Given the description of an element on the screen output the (x, y) to click on. 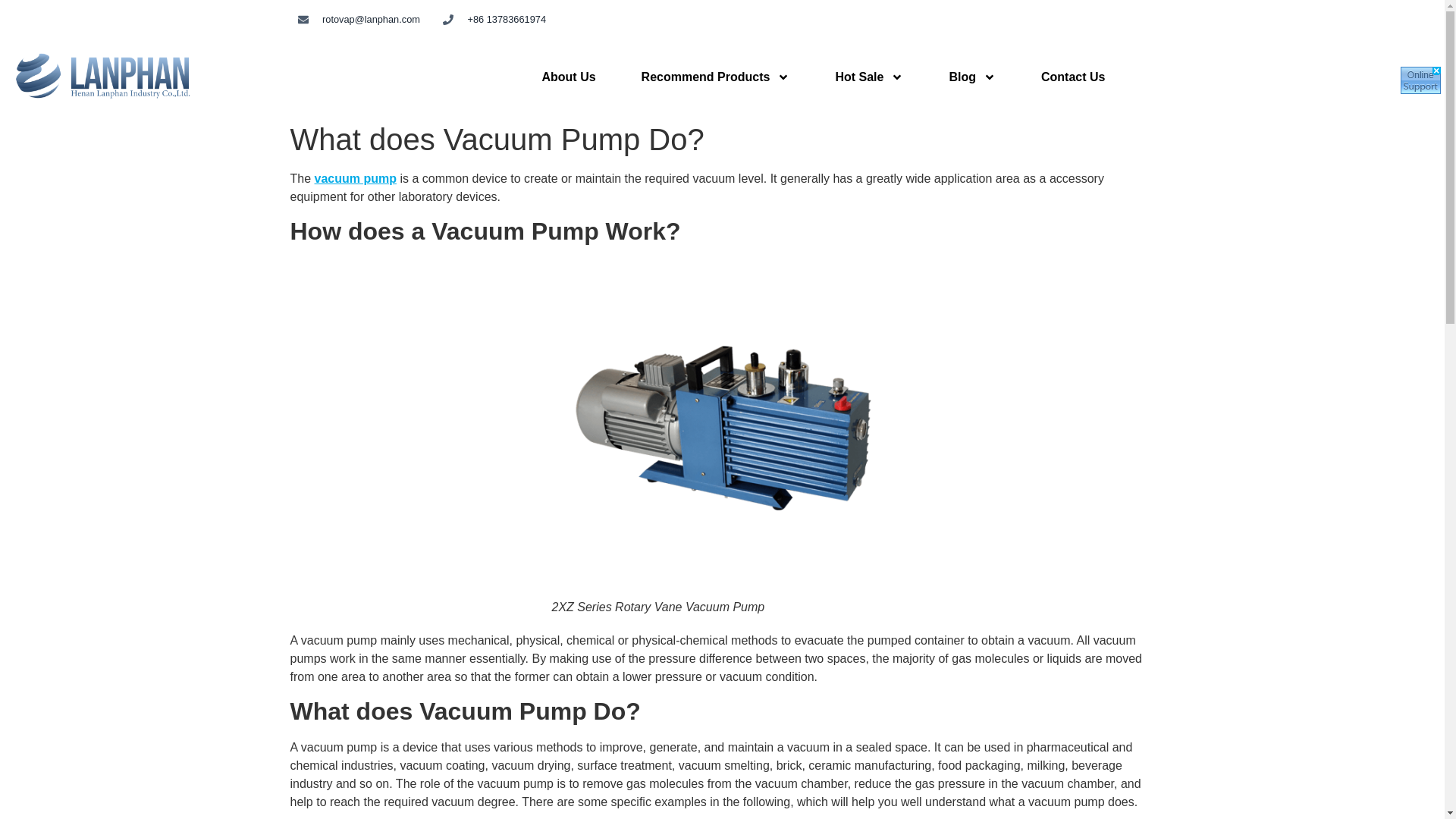
Contact Us (1072, 77)
About Us (567, 77)
Recommend Products (715, 77)
Hot Sale (868, 77)
Blog (971, 77)
